Given the description of an element on the screen output the (x, y) to click on. 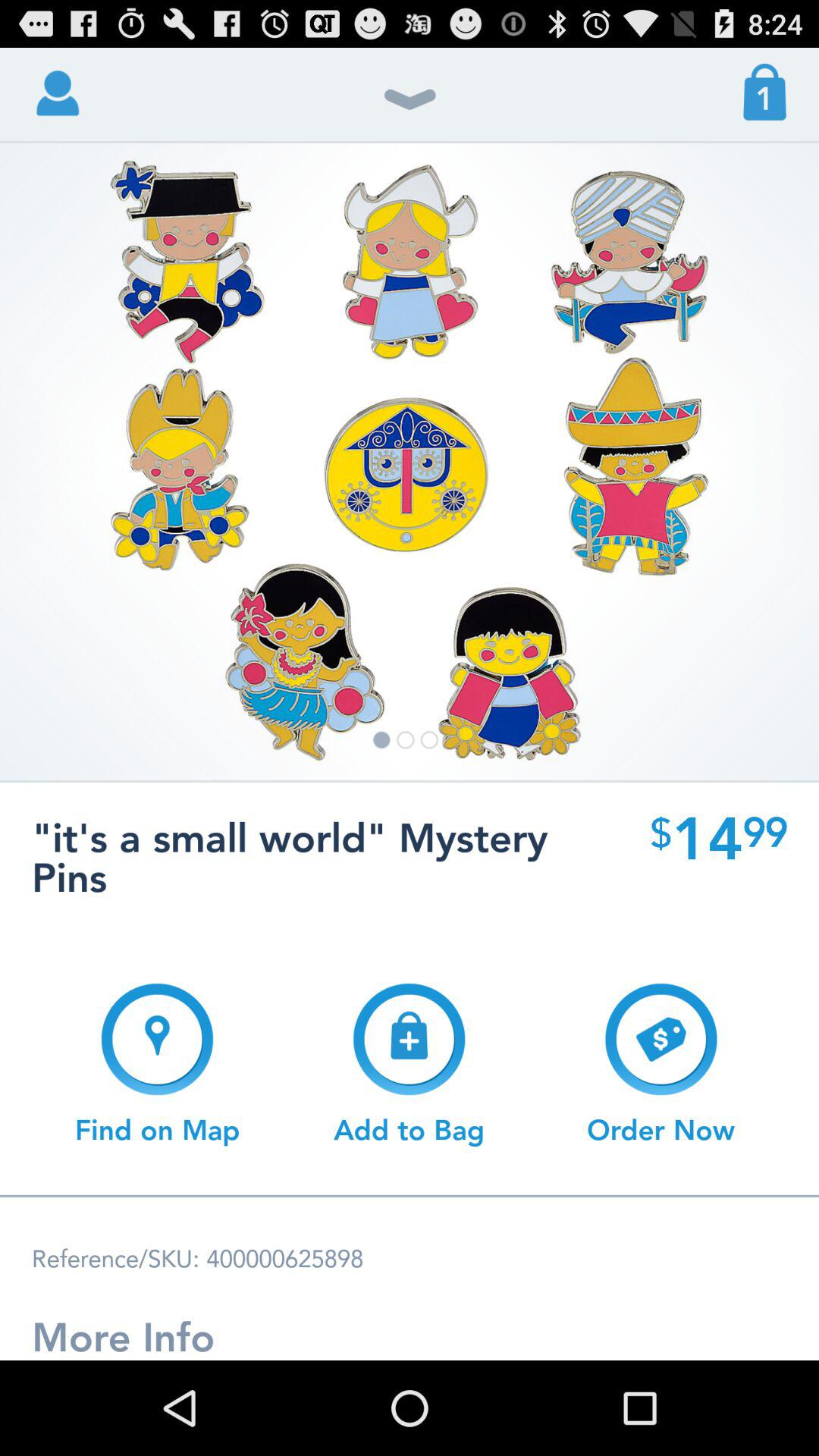
turn on the add to bag item (408, 1064)
